Given the description of an element on the screen output the (x, y) to click on. 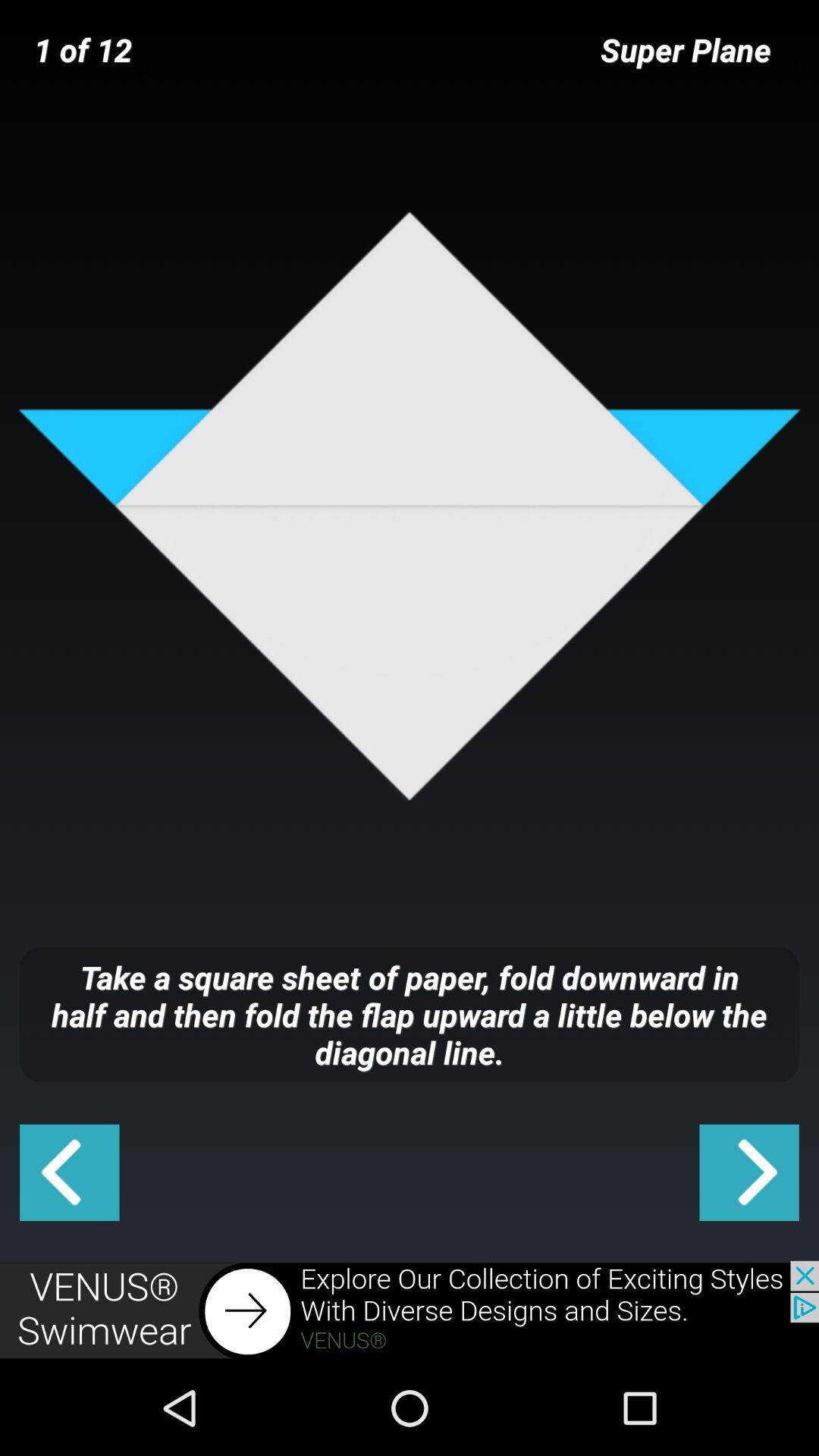
next step (749, 1172)
